Given the description of an element on the screen output the (x, y) to click on. 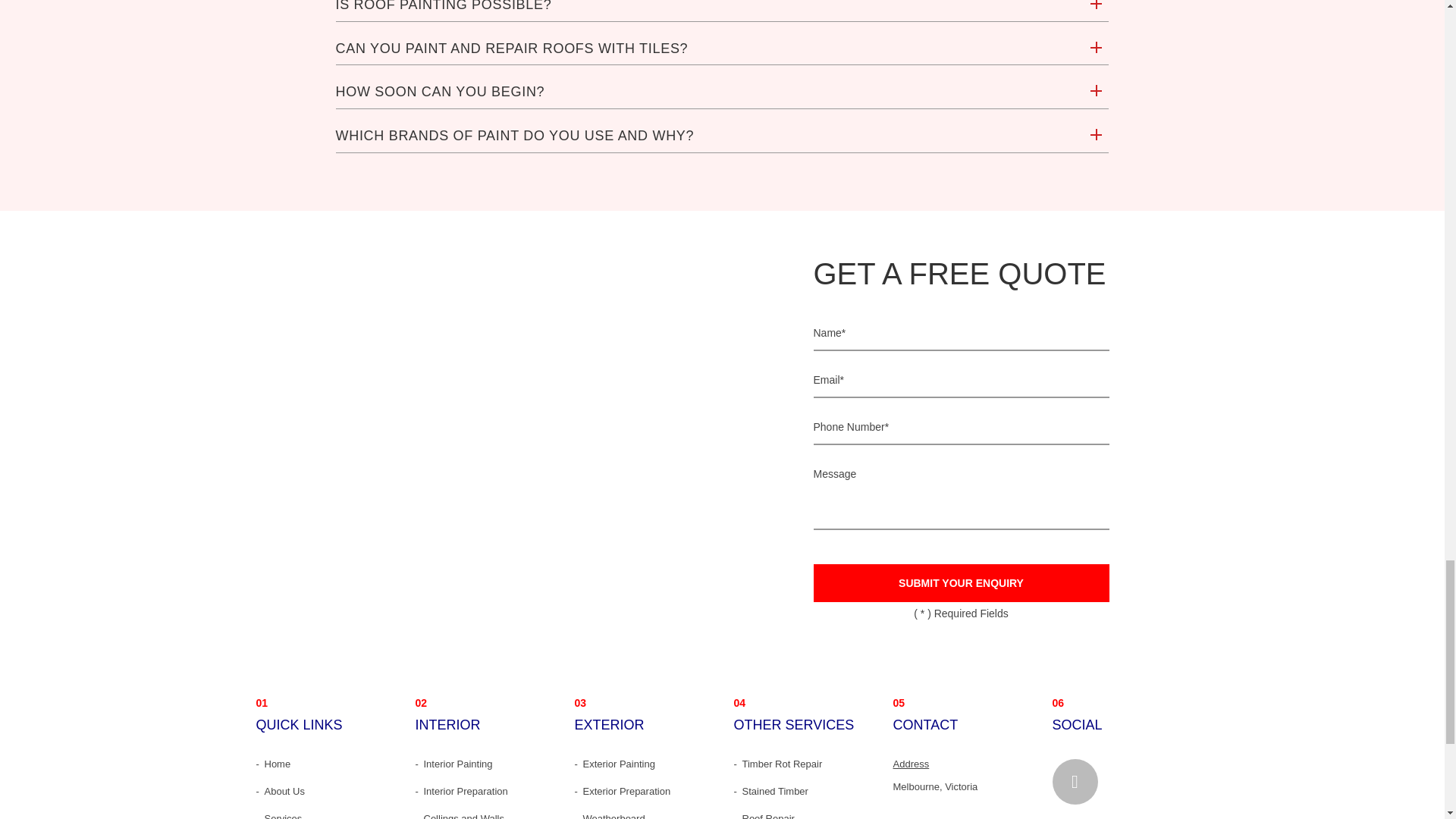
Submit Your Enquiry (960, 582)
